Given the description of an element on the screen output the (x, y) to click on. 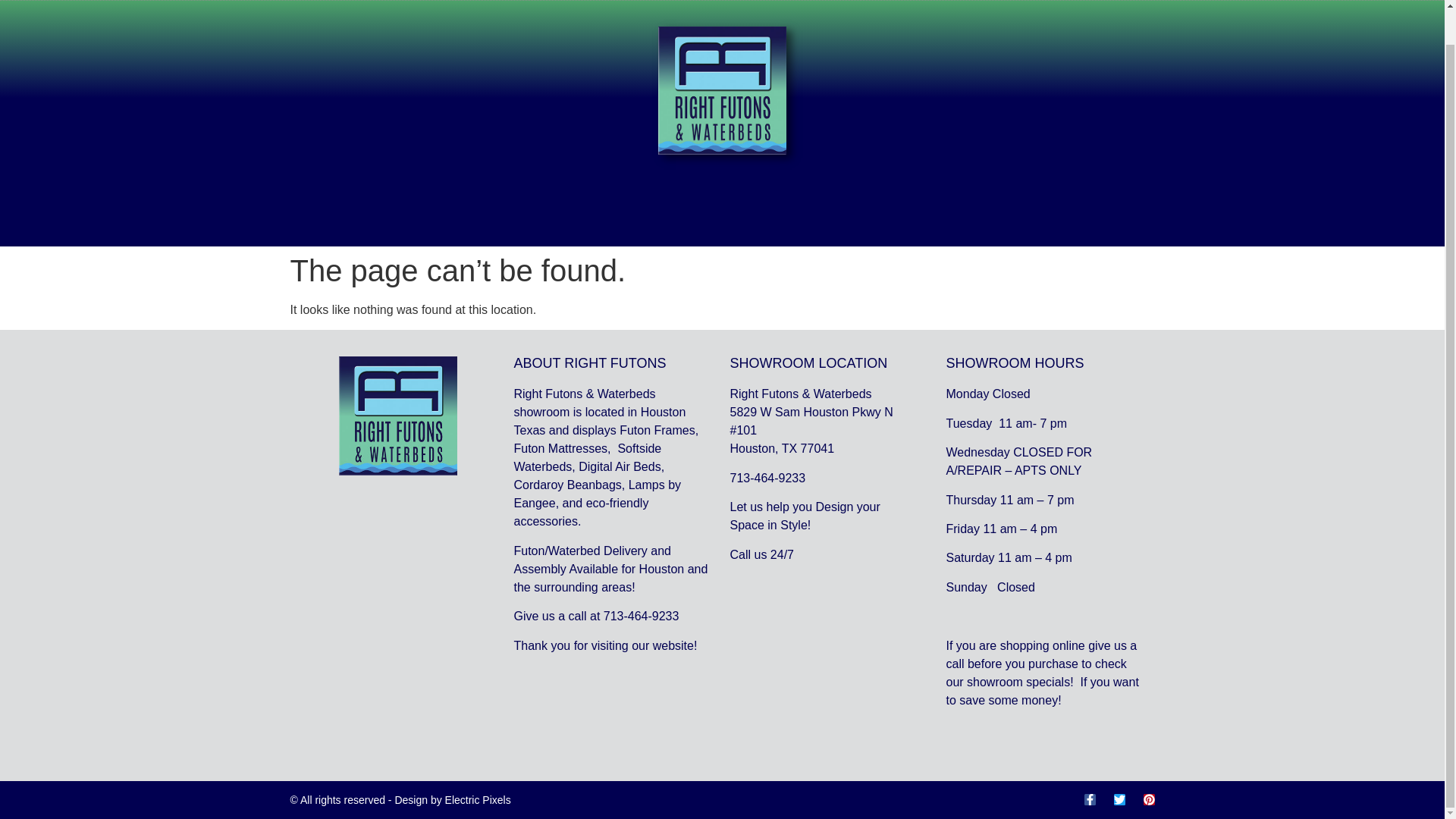
Map (1039, 5)
Malouf Sleep Products (561, 5)
Convertible Sofas (784, 5)
Resources (976, 5)
Mattresses (680, 5)
Waterbeds (445, 5)
Accessories (890, 5)
